Given the description of an element on the screen output the (x, y) to click on. 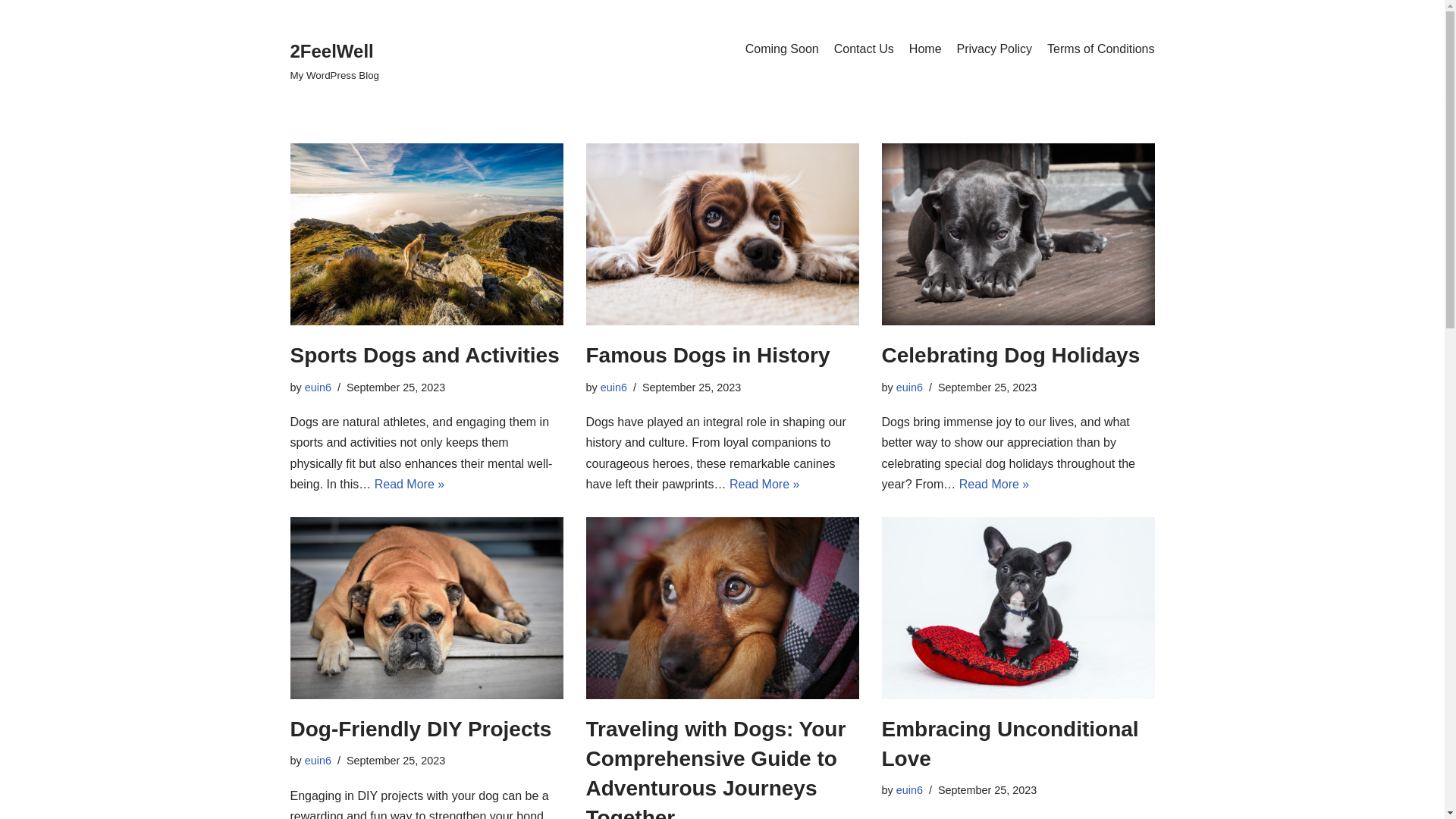
Sports Dogs and Activities Element type: text (423, 355)
Famous Dogs in History Element type: hover (721, 234)
Skip to content Element type: text (11, 31)
euin6 Element type: text (613, 387)
euin6 Element type: text (317, 387)
Famous Dogs in History Element type: text (707, 355)
Sports Dogs and Activities Element type: hover (425, 234)
Privacy Policy Element type: text (994, 49)
euin6 Element type: text (317, 760)
Embracing Unconditional Love Element type: text (1009, 743)
Terms of Conditions Element type: text (1100, 49)
Coming Soon Element type: text (782, 49)
Embracing Unconditional Love Element type: hover (1017, 608)
2FeelWell
My WordPress Blog Element type: text (334, 48)
Contact Us Element type: text (864, 49)
Dog-Friendly DIY Projects Element type: hover (425, 608)
Celebrating Dog Holidays Element type: hover (1017, 234)
Dog-Friendly DIY Projects Element type: text (420, 728)
euin6 Element type: text (909, 790)
Home Element type: text (925, 49)
euin6 Element type: text (909, 387)
Celebrating Dog Holidays Element type: text (1010, 355)
